Given the description of an element on the screen output the (x, y) to click on. 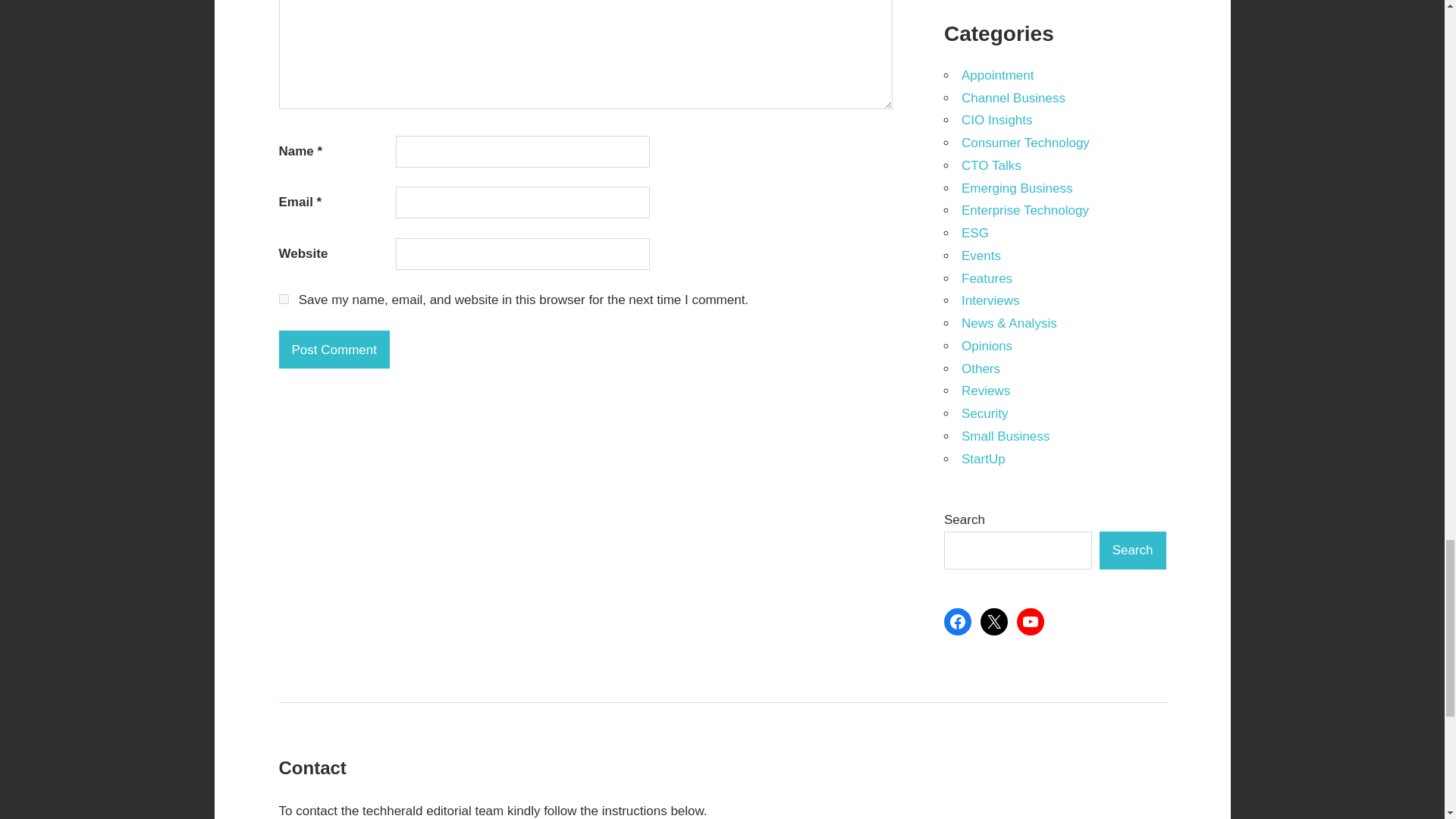
Post Comment (334, 349)
yes (283, 298)
Post Comment (334, 349)
